Given the description of an element on the screen output the (x, y) to click on. 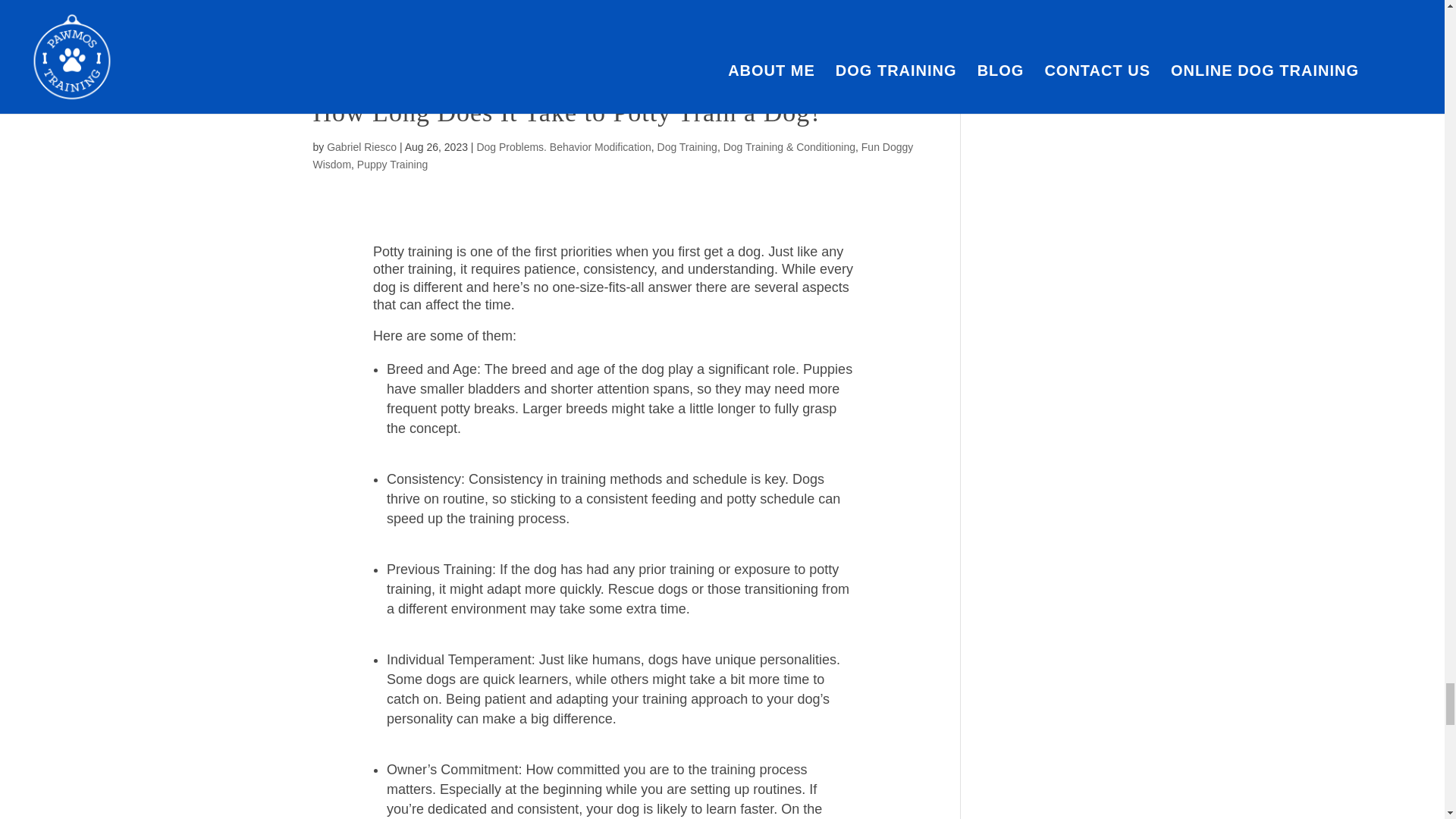
Posts by Gabriel Riesco (361, 146)
